Given the description of an element on the screen output the (x, y) to click on. 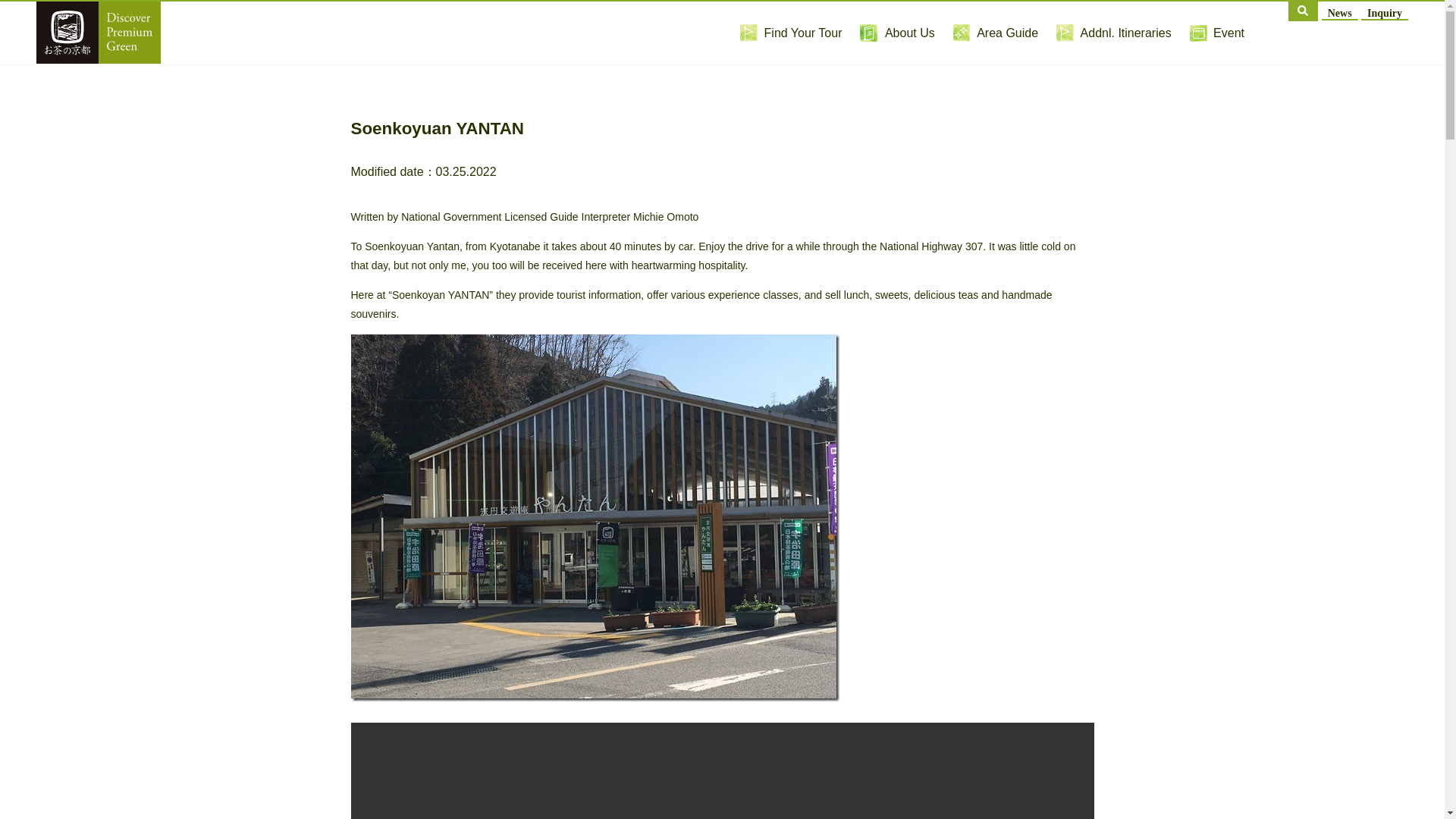
Addnl. Itineraries (1114, 31)
About Us (897, 31)
Find Your Tour (790, 31)
News (1340, 11)
Event (1216, 31)
Area Guide (995, 31)
Inquiry (1384, 11)
